Given the description of an element on the screen output the (x, y) to click on. 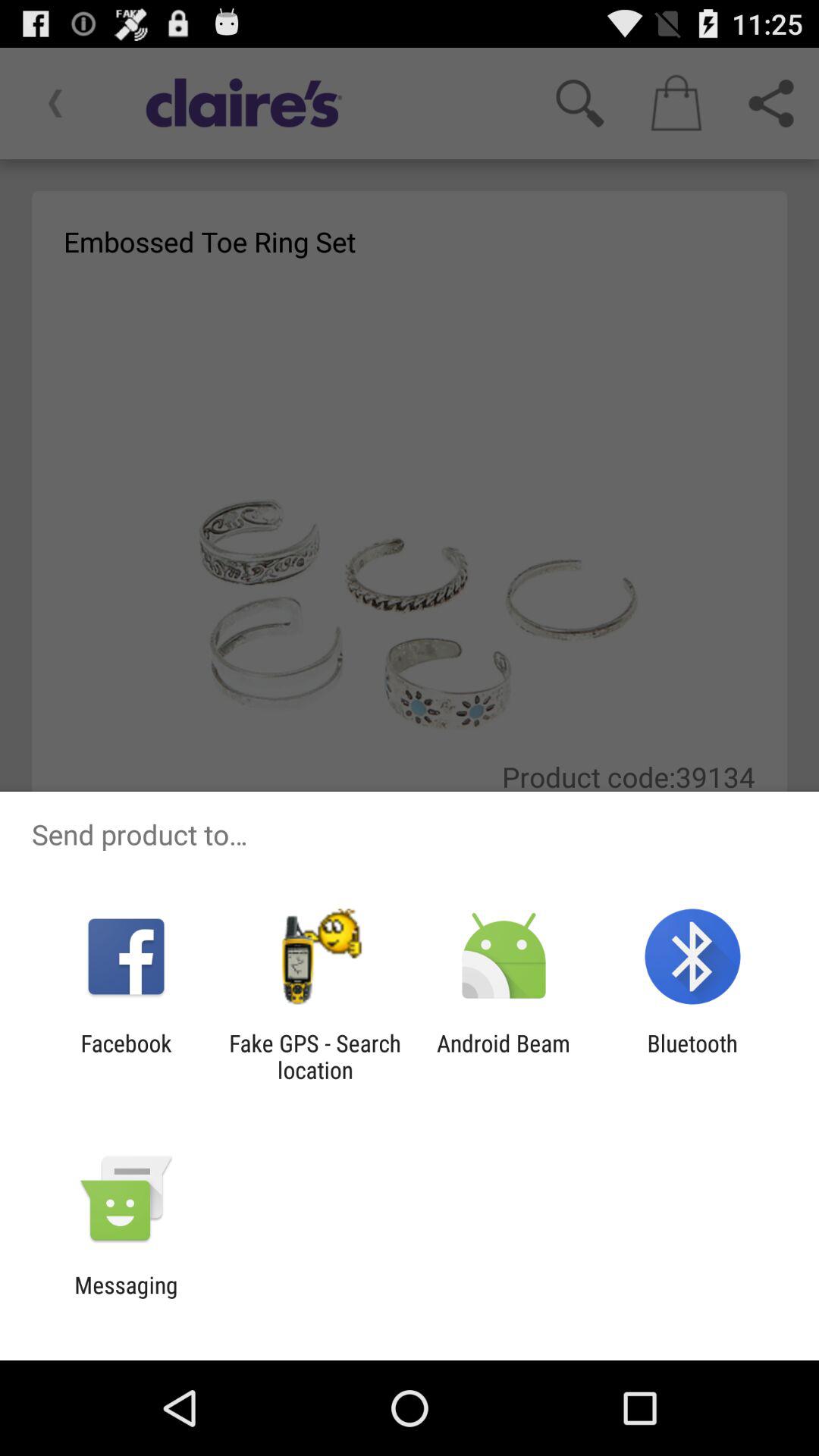
select the app to the right of android beam item (692, 1056)
